Given the description of an element on the screen output the (x, y) to click on. 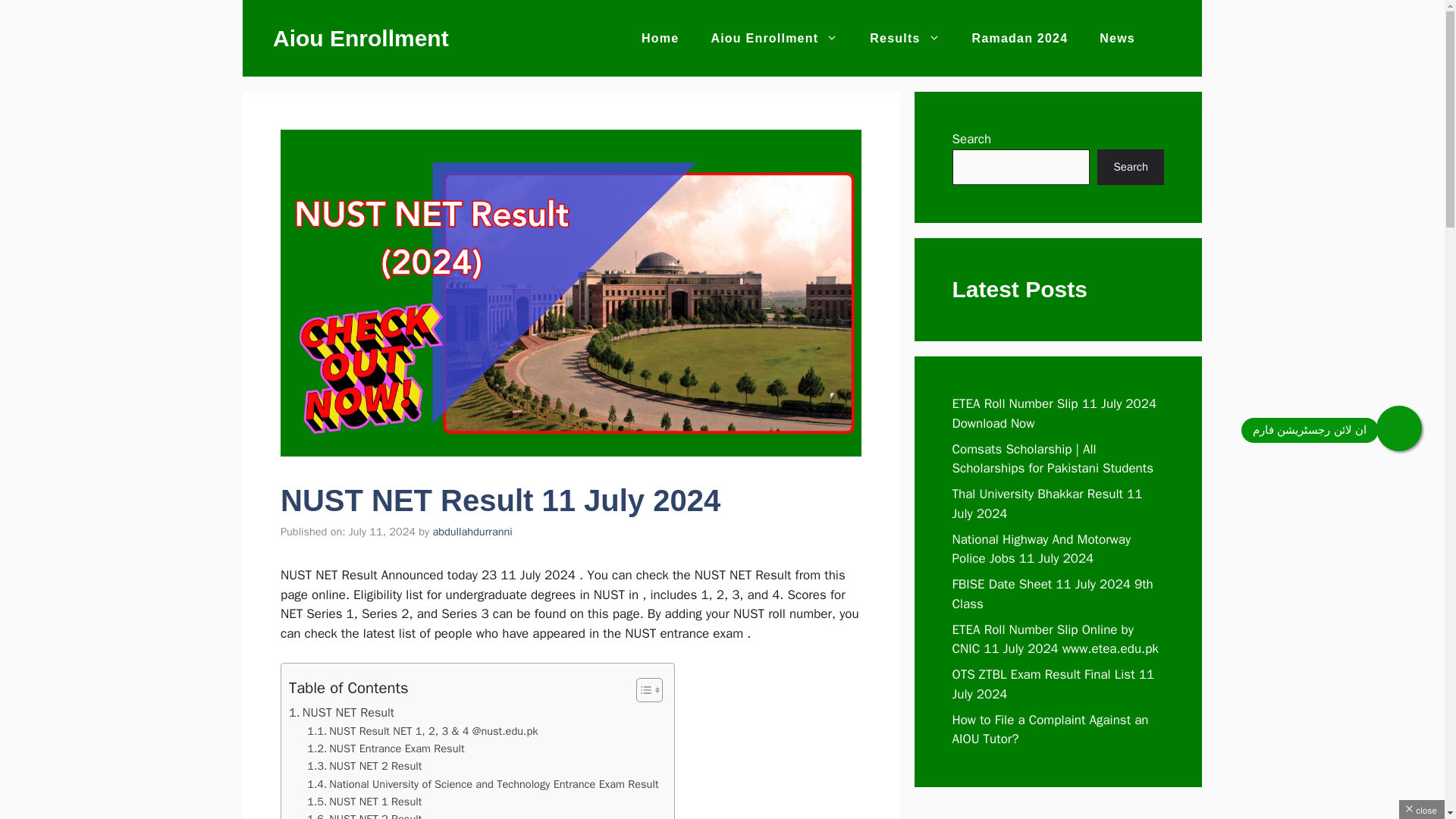
NUST NET 2 Result (364, 765)
abdullahdurranni (472, 531)
View all posts by abdullahdurranni (472, 531)
NUST NET 2 Result (364, 814)
NUST NET Result (341, 712)
Results (904, 38)
ETEA Roll Number Slip 11 July 2024 Download Now (1054, 413)
Home (660, 38)
Aiou Enrollment (360, 37)
NUST NET 1 Result (364, 801)
NUST NET 2 Result   (364, 765)
Ramadan 2024 (1020, 38)
NUST Entrance Exam Result (385, 748)
